Given the description of an element on the screen output the (x, y) to click on. 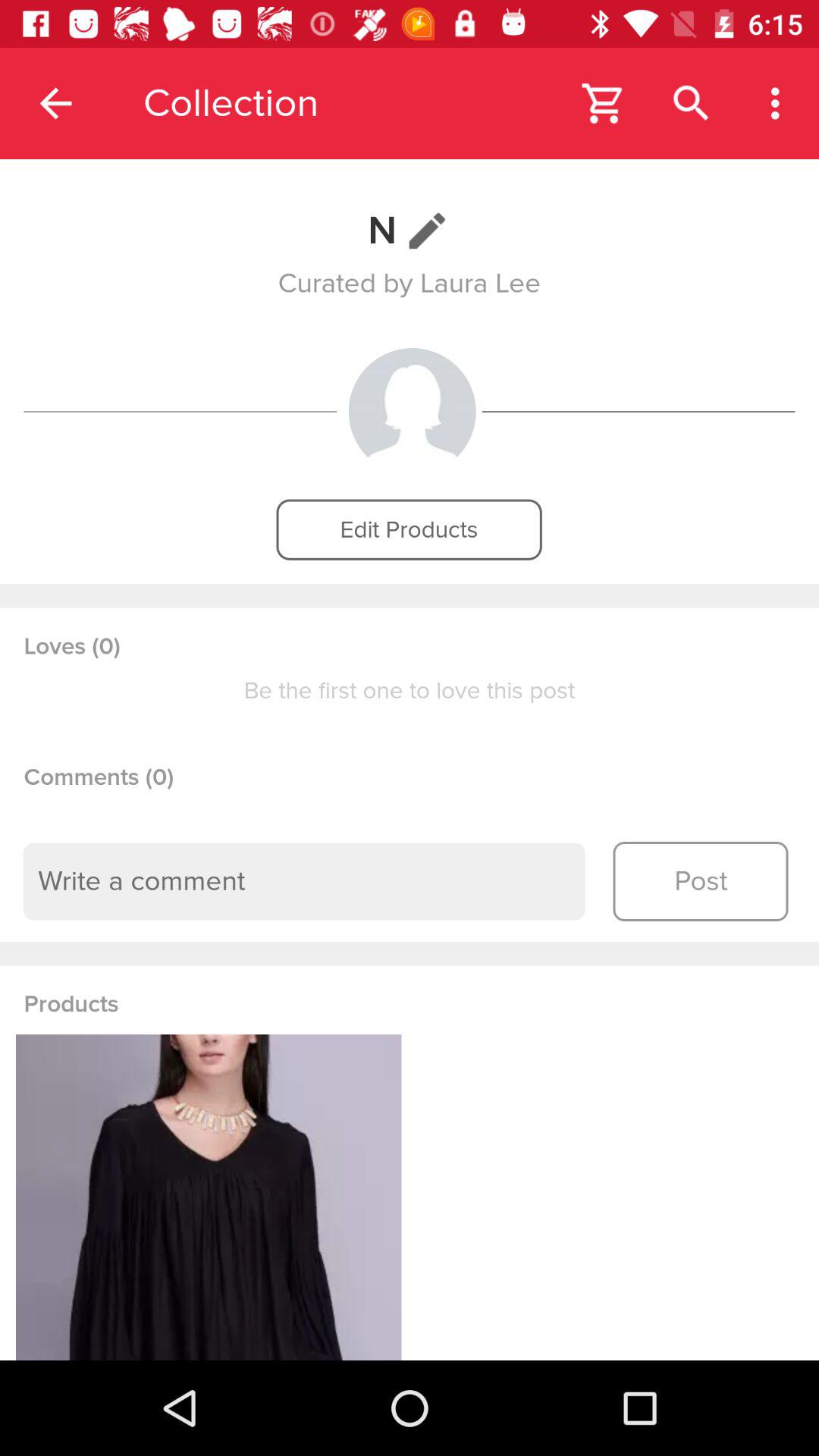
click the app next to collection item (55, 103)
